Given the description of an element on the screen output the (x, y) to click on. 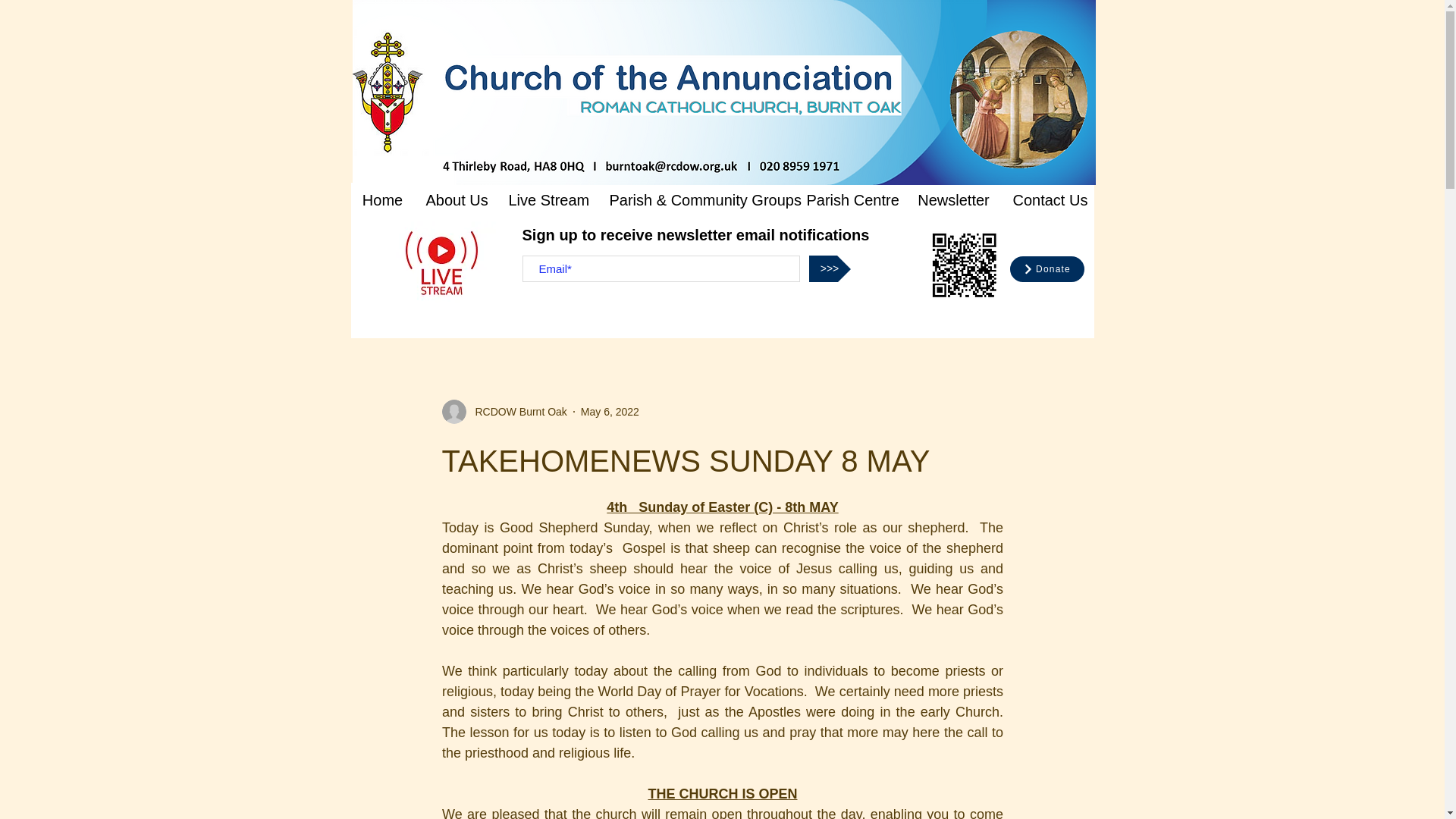
Contact Us (1047, 200)
Newsletter (953, 200)
Live Stream (547, 200)
Parish Centre (849, 200)
Home (381, 200)
Donate (1046, 268)
May 6, 2022 (609, 410)
RCDOW Burnt Oak (515, 411)
